Given the description of an element on the screen output the (x, y) to click on. 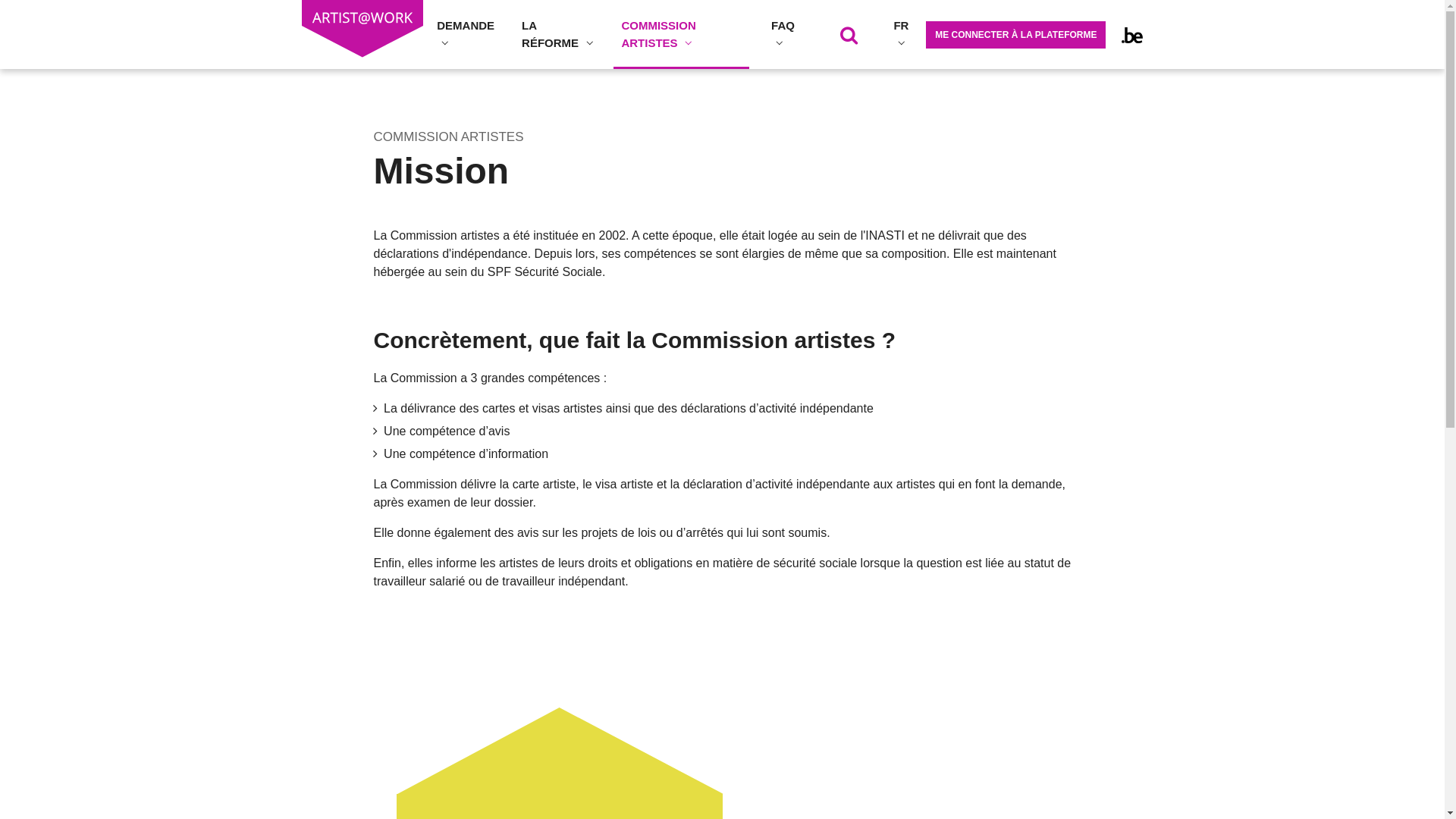
COMMISSION ARTISTES Element type: text (682, 34)
DEMANDE Element type: text (465, 34)
Artistes Element type: text (362, 28)
RECHERCHER SUR ARTIST@WORK Element type: text (849, 34)
FAQ Element type: text (784, 34)
FR Element type: text (902, 34)
